Given the description of an element on the screen output the (x, y) to click on. 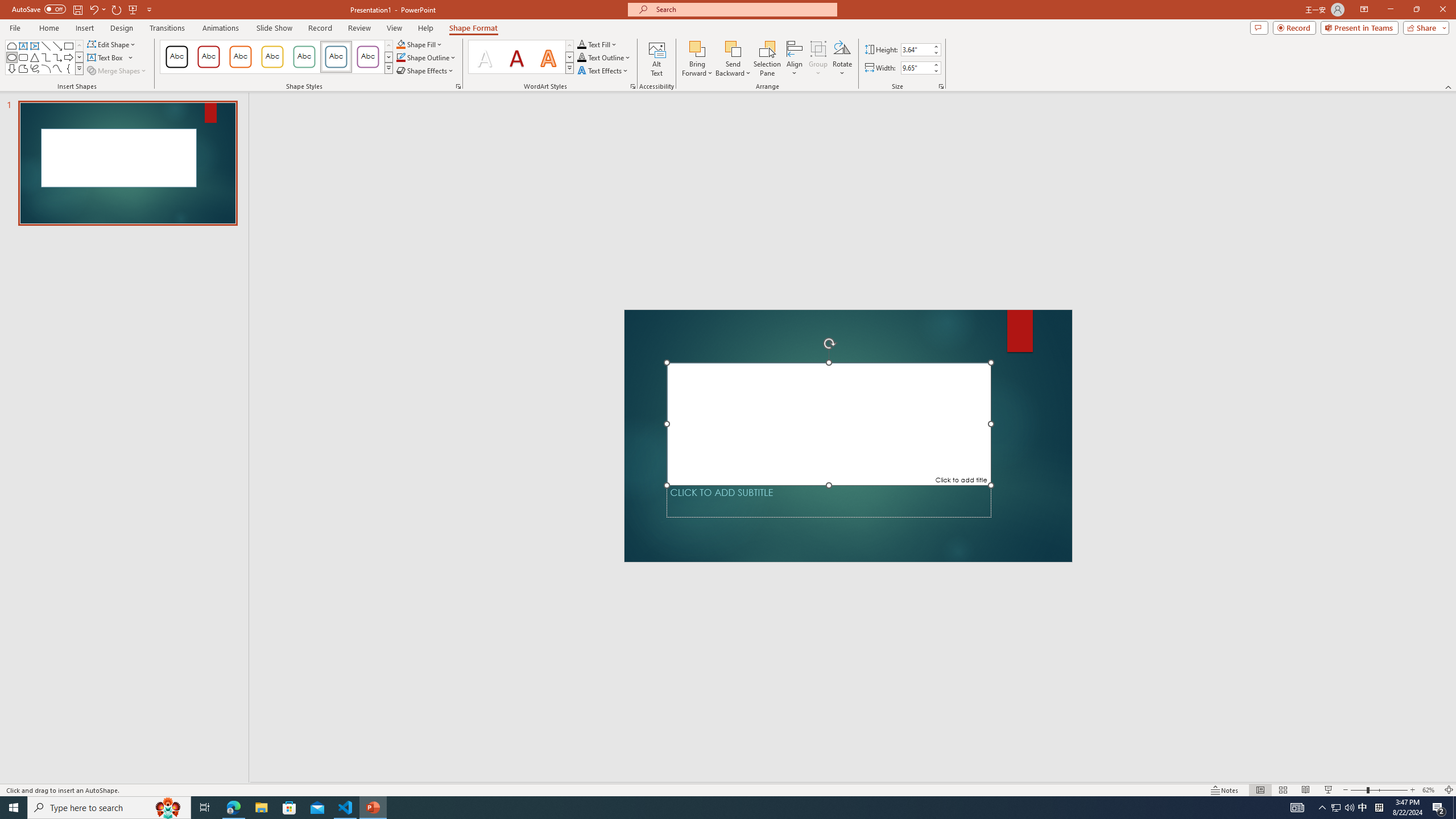
Rotate (841, 58)
Send Backward (733, 48)
AutomationID: TextStylesGallery (521, 56)
Colored Outline - Green, Accent 4 (304, 56)
Merge Shapes (117, 69)
Rectangle: Top Corners Snipped (11, 45)
